Given the description of an element on the screen output the (x, y) to click on. 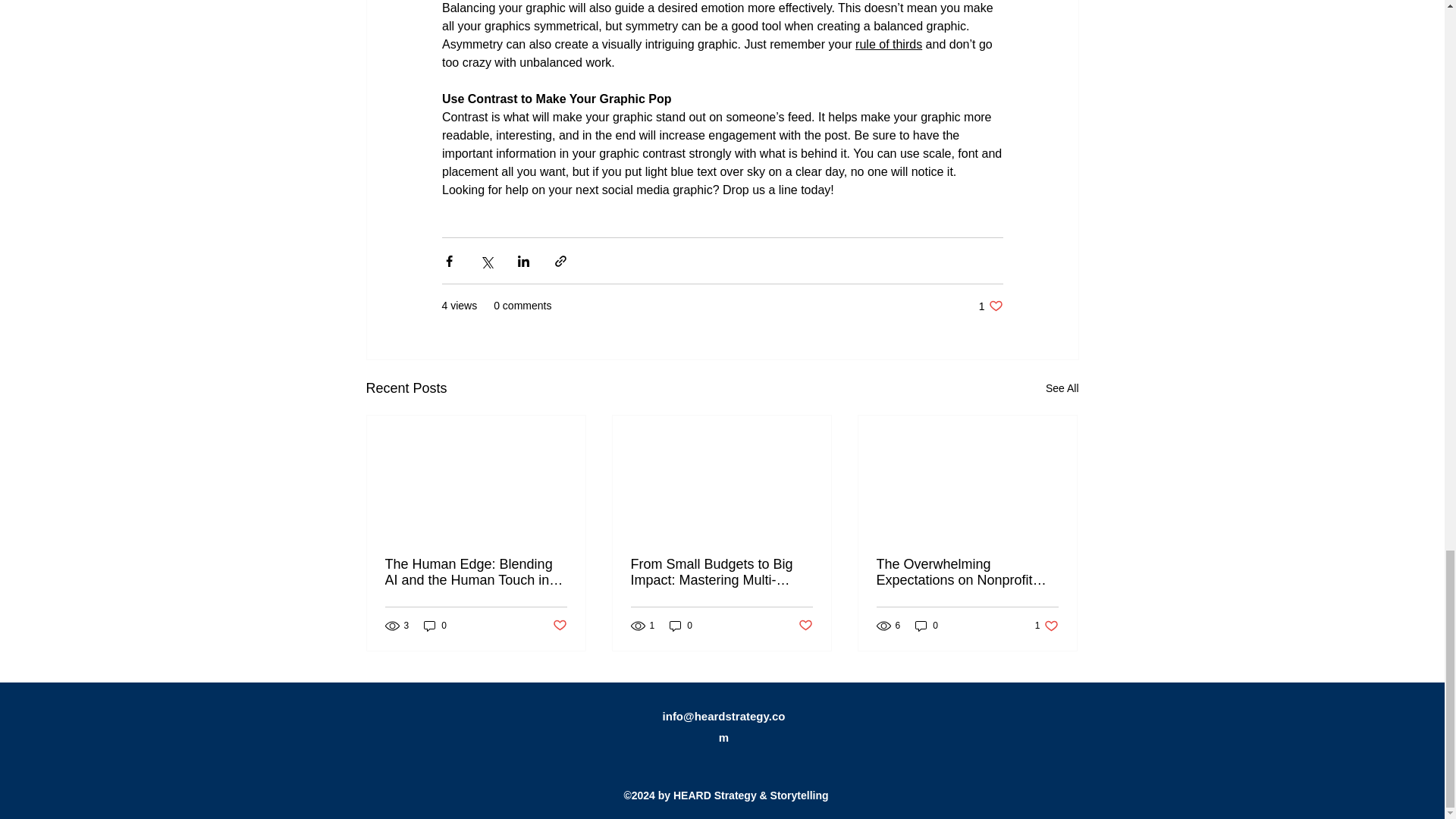
Post not marked as liked (558, 625)
Post not marked as liked (990, 305)
0 (804, 625)
0 (435, 625)
rule of thirds (1046, 625)
0 (926, 625)
See All (888, 43)
